Given the description of an element on the screen output the (x, y) to click on. 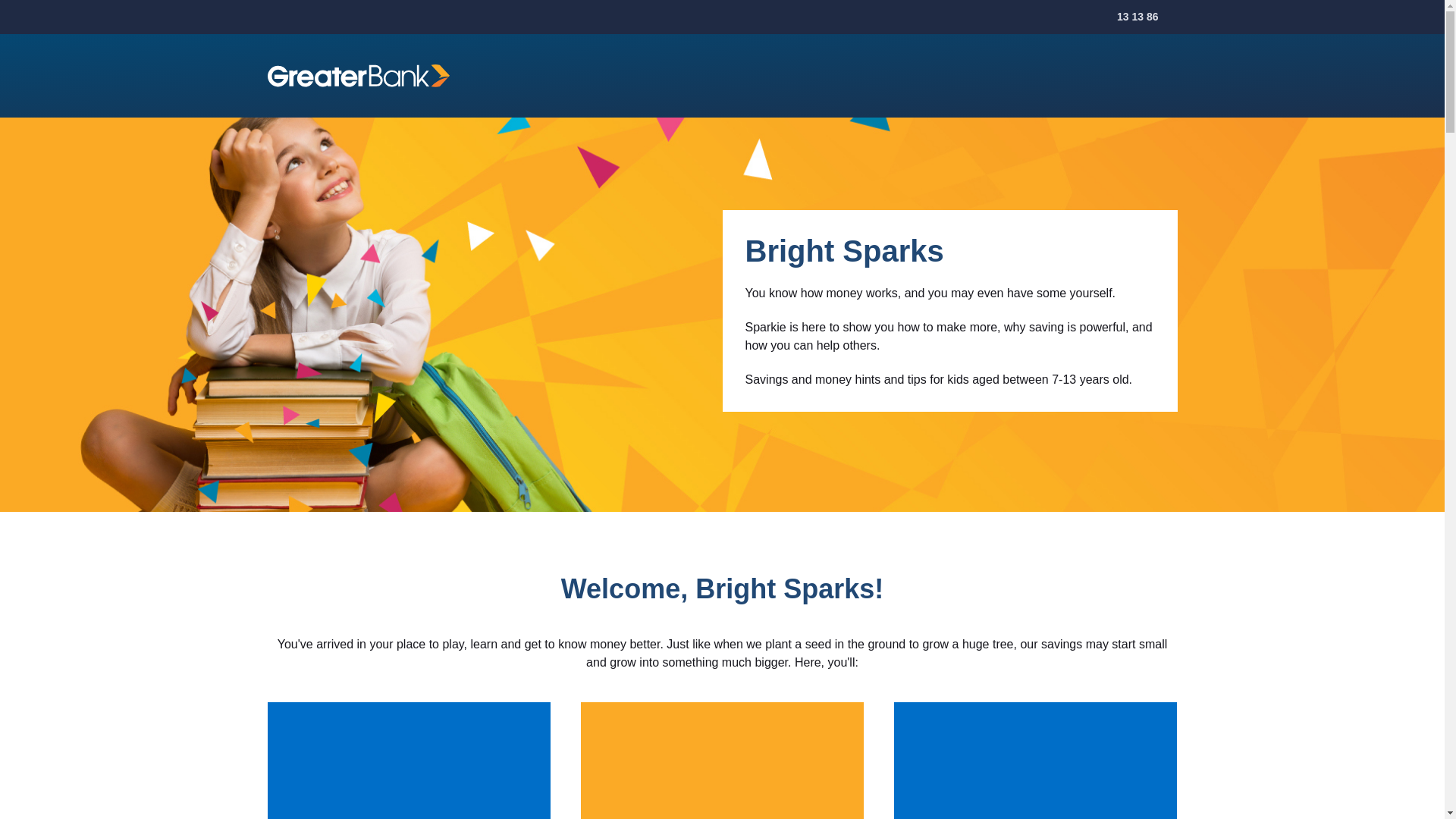
13 13 86 (1126, 17)
